Given the description of an element on the screen output the (x, y) to click on. 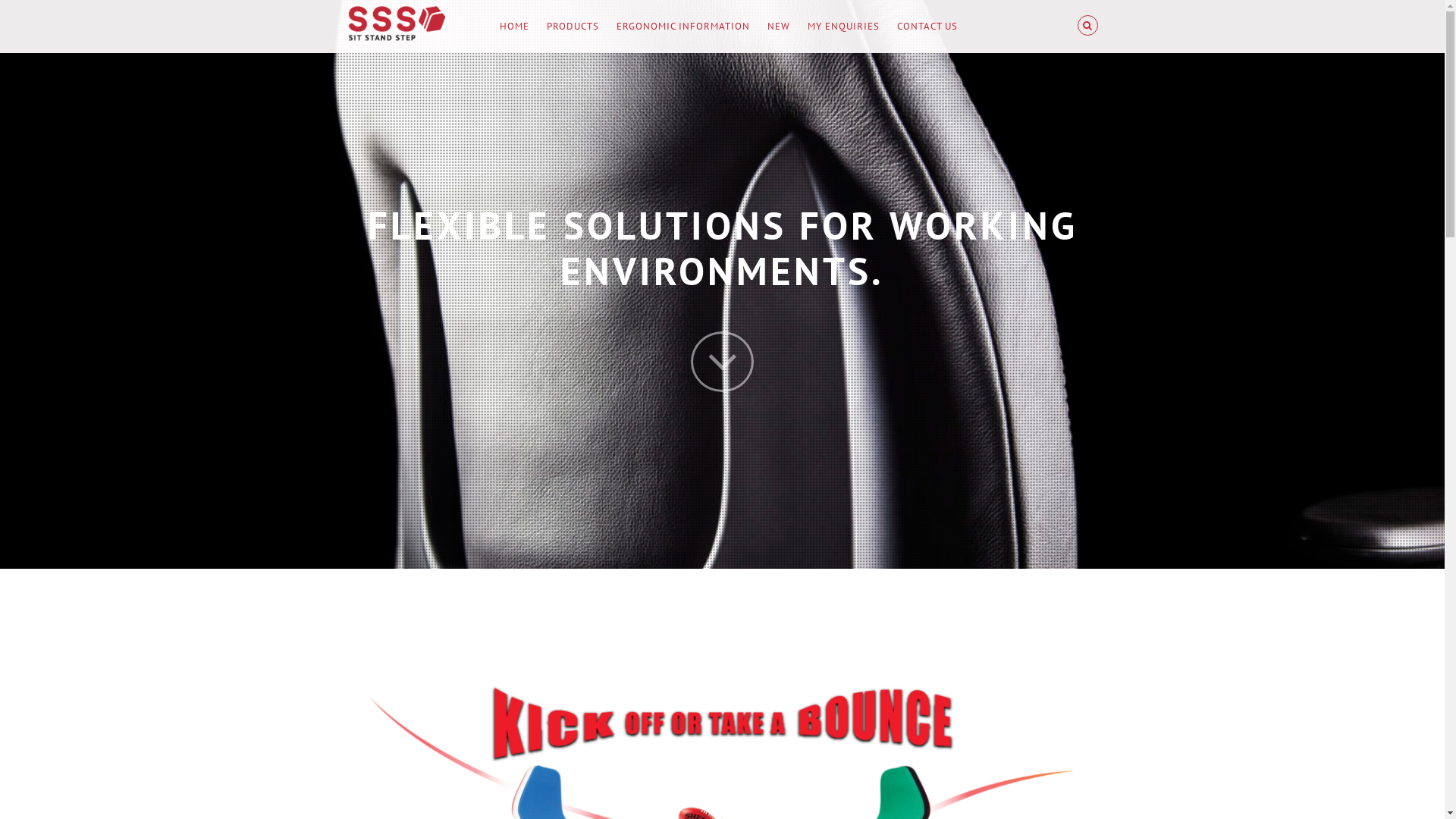
MY ENQUIRIES Element type: text (842, 26)
NEW Element type: text (778, 26)
HOME Element type: text (513, 26)
ERGONOMIC INFORMATION Element type: text (682, 26)
Explore Element type: hover (721, 361)
PRODUCTS Element type: text (572, 26)
CONTACT US Element type: text (926, 26)
